Given the description of an element on the screen output the (x, y) to click on. 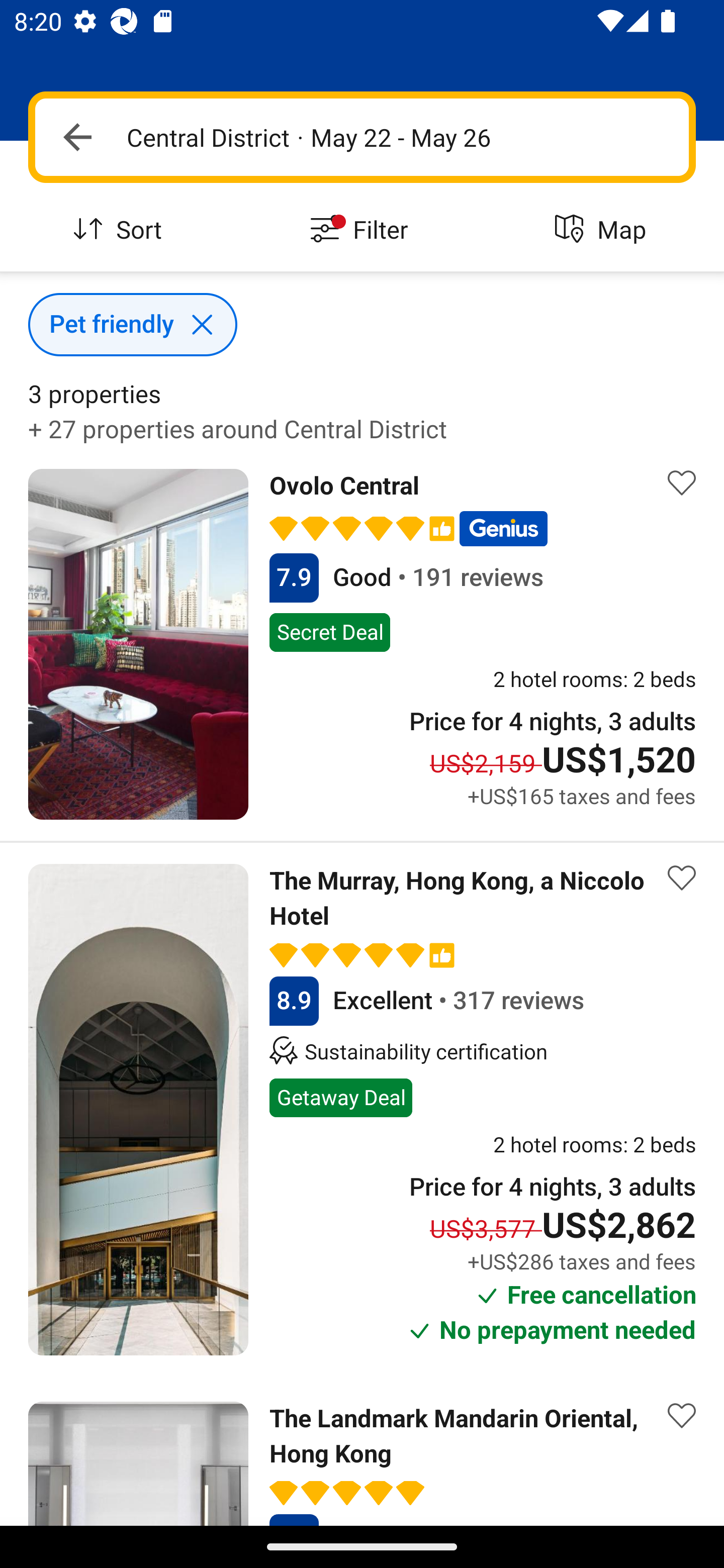
Navigate up Central District · May 22 - May 26 (362, 136)
Navigate up (77, 136)
Sort (120, 230)
Filter (361, 230)
Map (603, 230)
Save property to list (681, 482)
Save property to list (681, 877)
Save property to list (681, 1415)
